Given the description of an element on the screen output the (x, y) to click on. 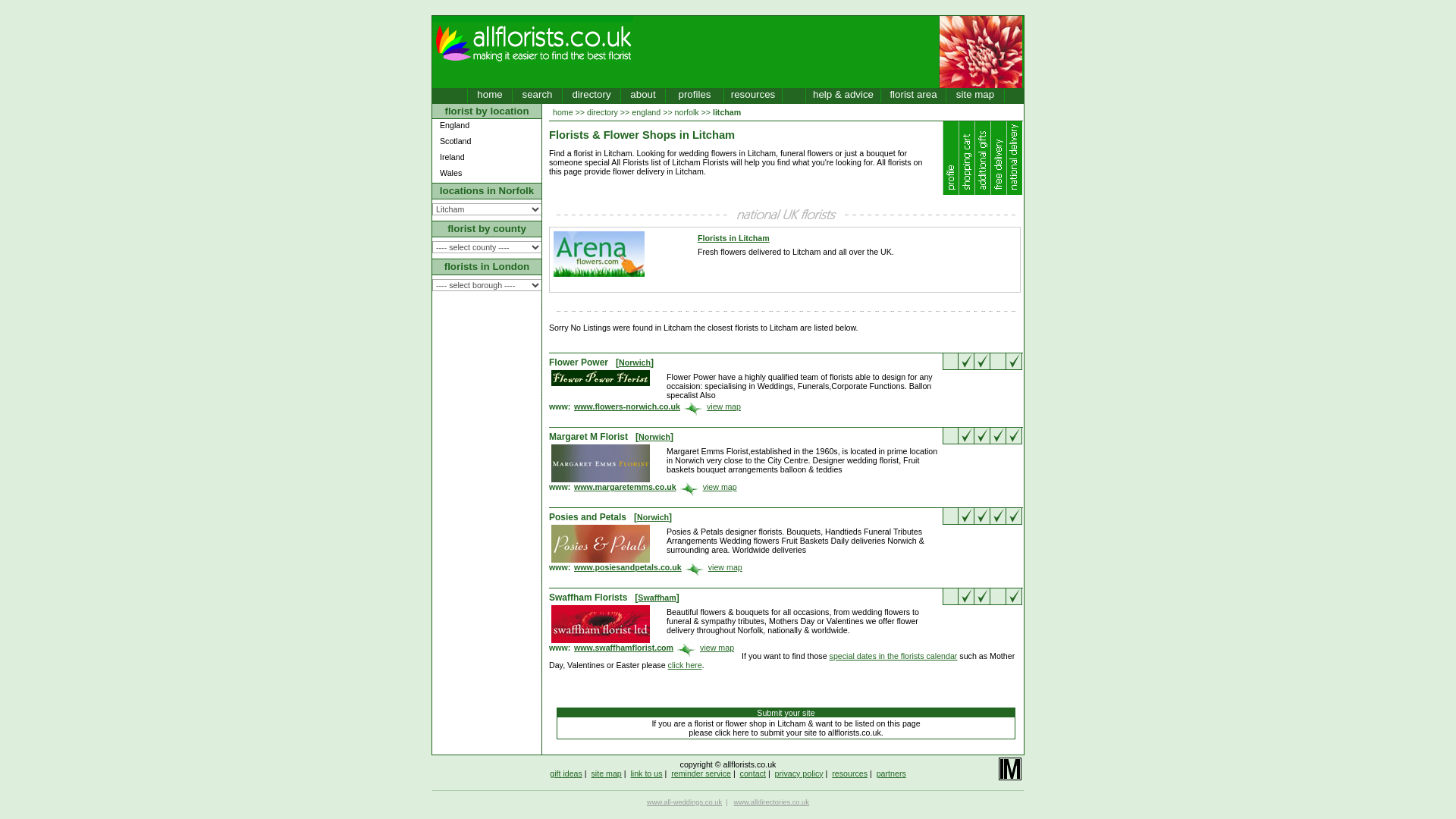
Site Map (974, 95)
Florists in Scotland (490, 142)
home (563, 112)
www.swaffhamflorist.com (622, 648)
site map (606, 773)
Florist Profiles (694, 95)
link to us (646, 773)
england (646, 112)
www.flowers-norwich.co.uk (626, 407)
special dates in the florists calendar (893, 655)
view map (719, 486)
view map (724, 566)
Florists in Ireland (490, 158)
Norwich (652, 516)
directory (601, 112)
